Given the description of an element on the screen output the (x, y) to click on. 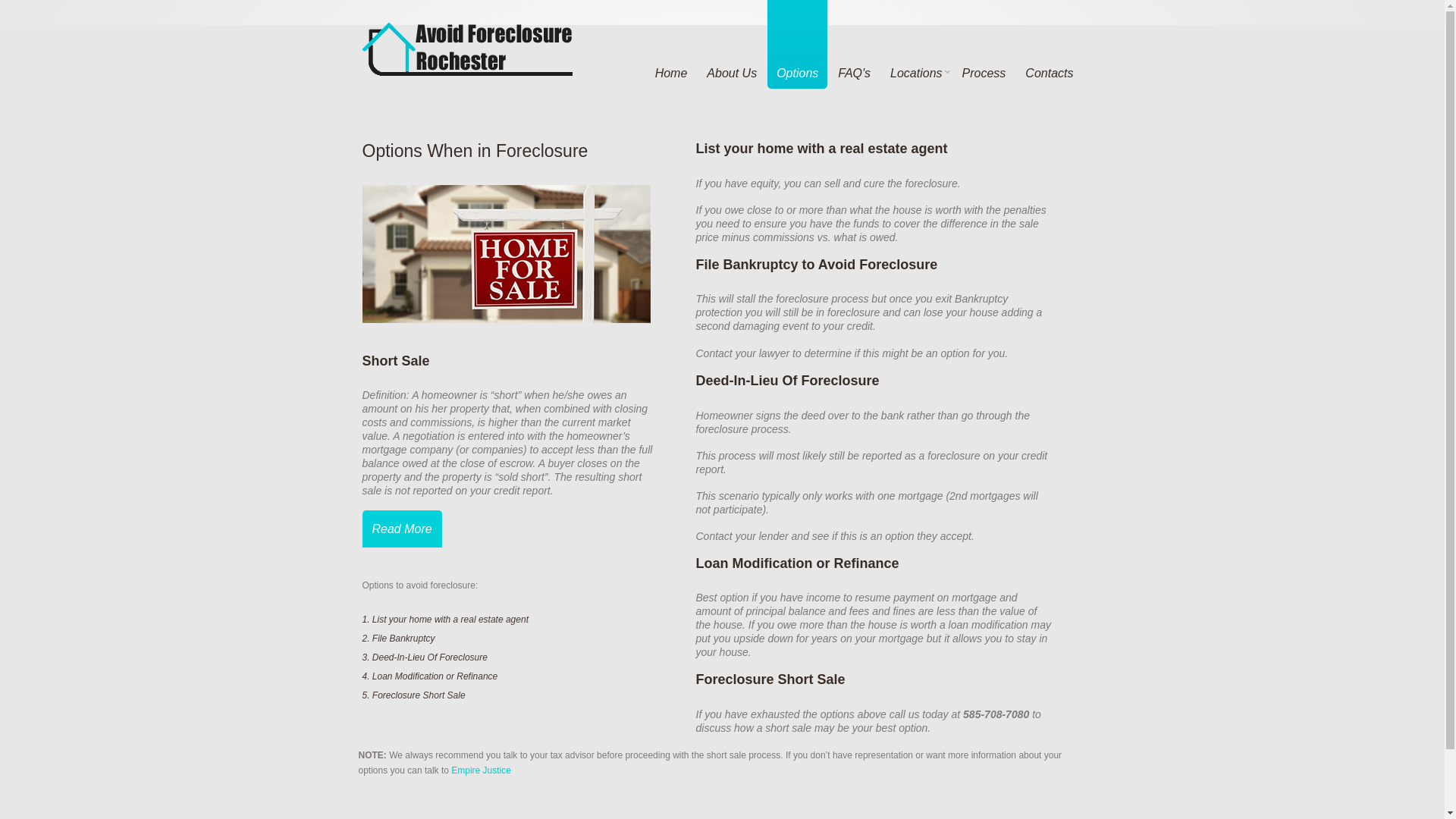
Empire Justice (481, 769)
Avoid Foreclosure Rochester.com (471, 49)
Read More (402, 528)
